Given the description of an element on the screen output the (x, y) to click on. 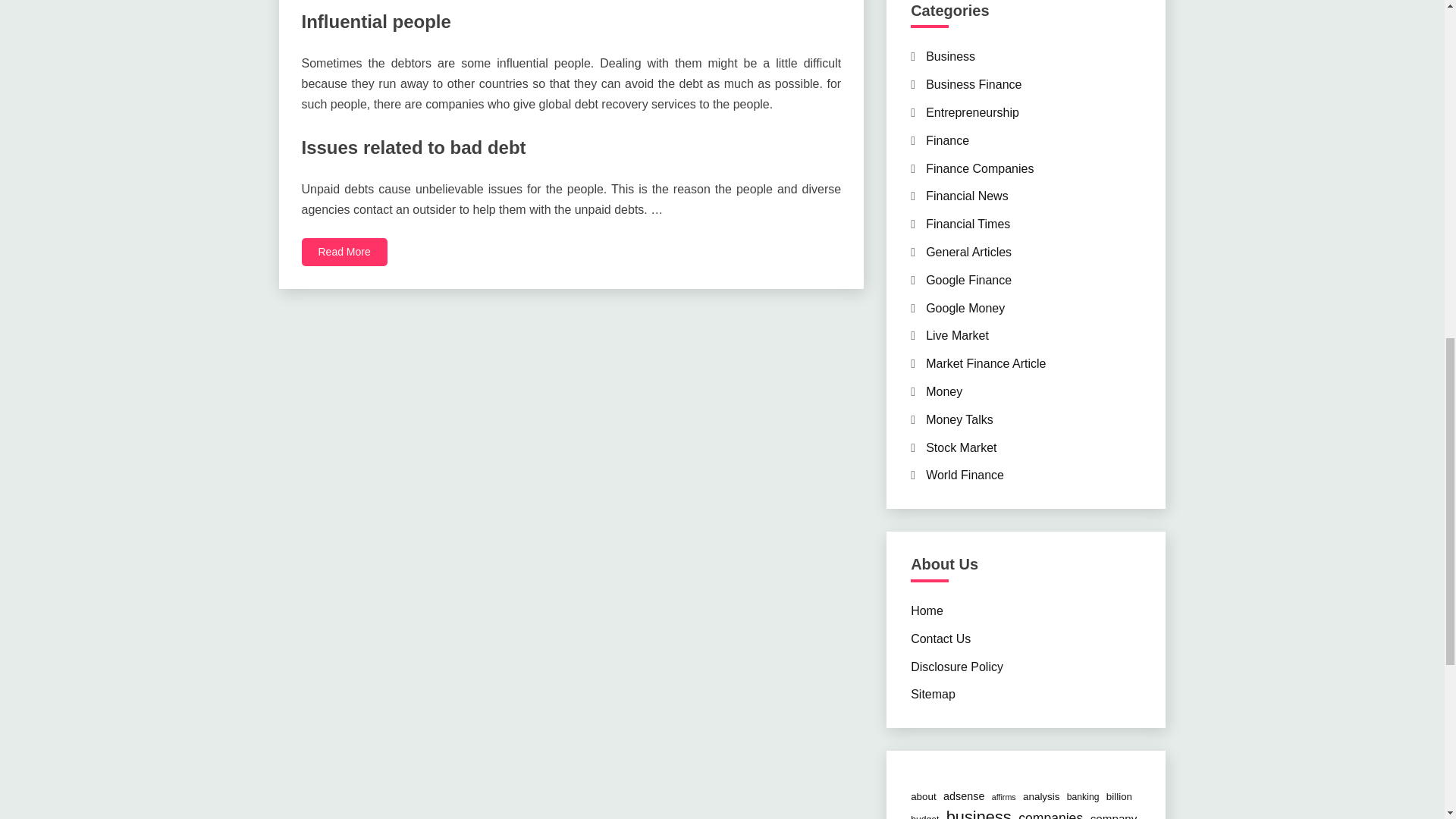
Business (950, 56)
Read More (344, 252)
Business Finance (974, 83)
